Given the description of an element on the screen output the (x, y) to click on. 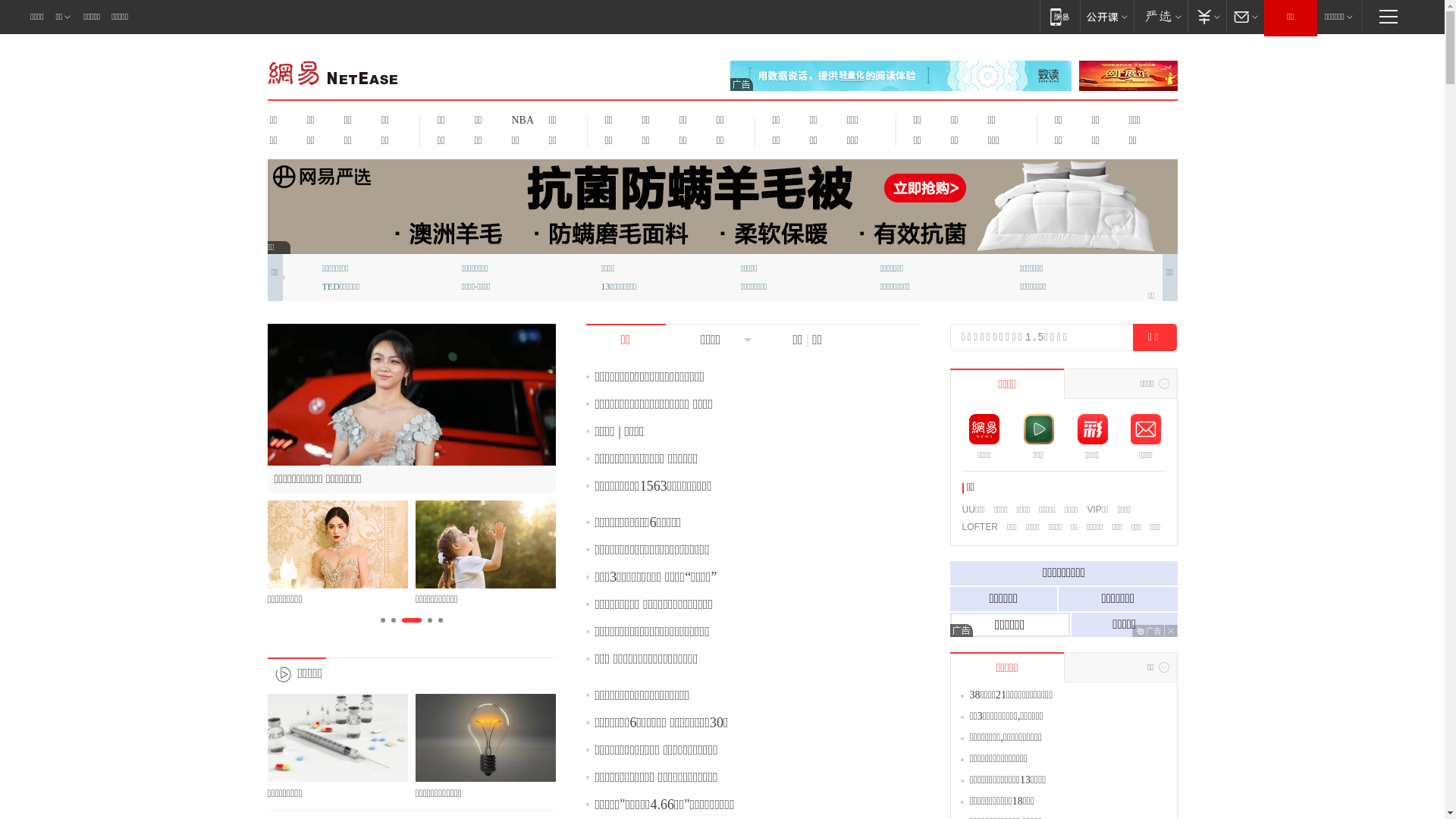
NBA Element type: text (520, 119)
LOFTER Element type: text (979, 526)
